Given the description of an element on the screen output the (x, y) to click on. 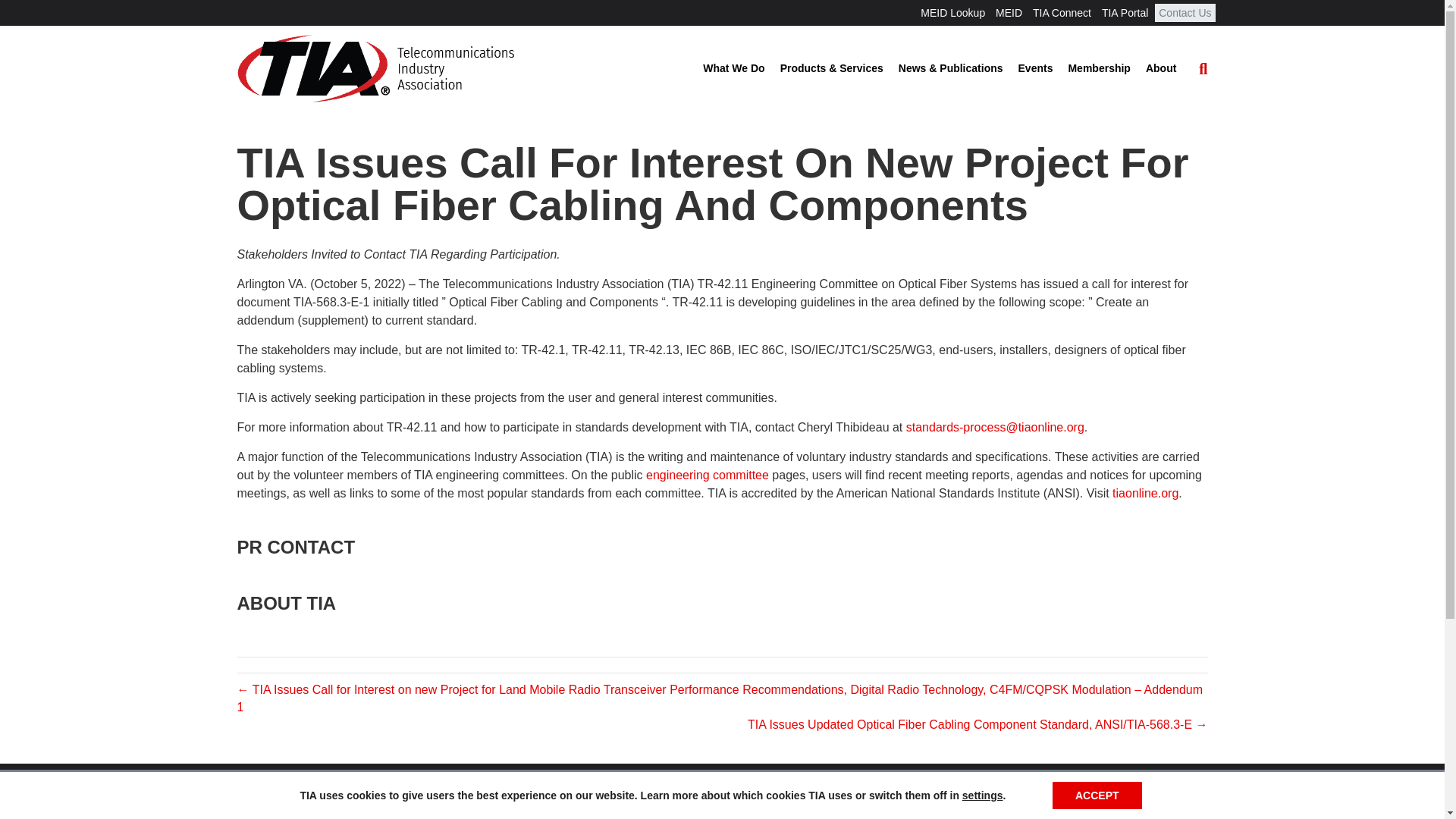
What We Do (733, 69)
TIA Connect (1061, 13)
MEID (1008, 13)
Contact Us (1184, 13)
TIA Portal (1124, 13)
MEID Lookup (952, 13)
